Given the description of an element on the screen output the (x, y) to click on. 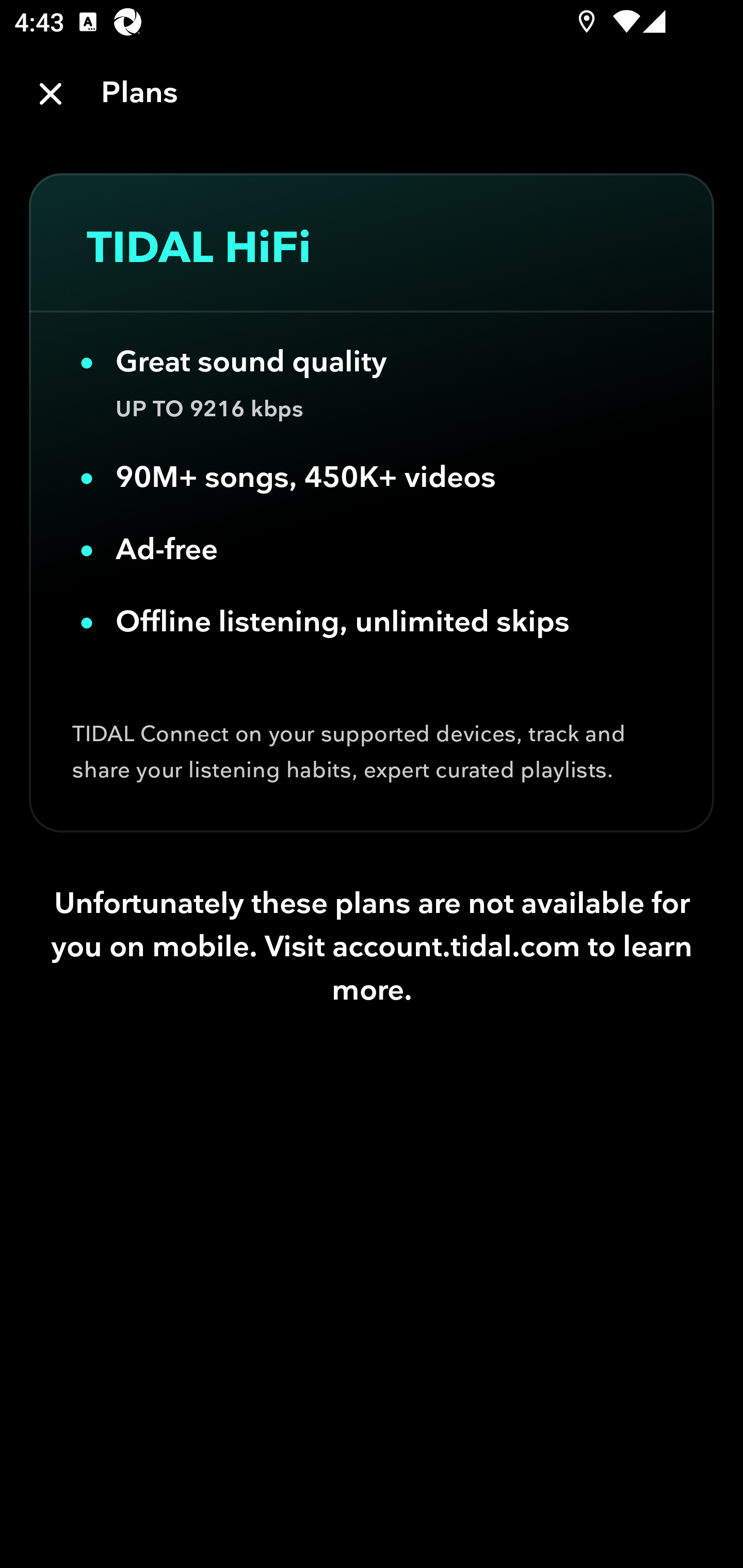
Close (50, 93)
